Given the description of an element on the screen output the (x, y) to click on. 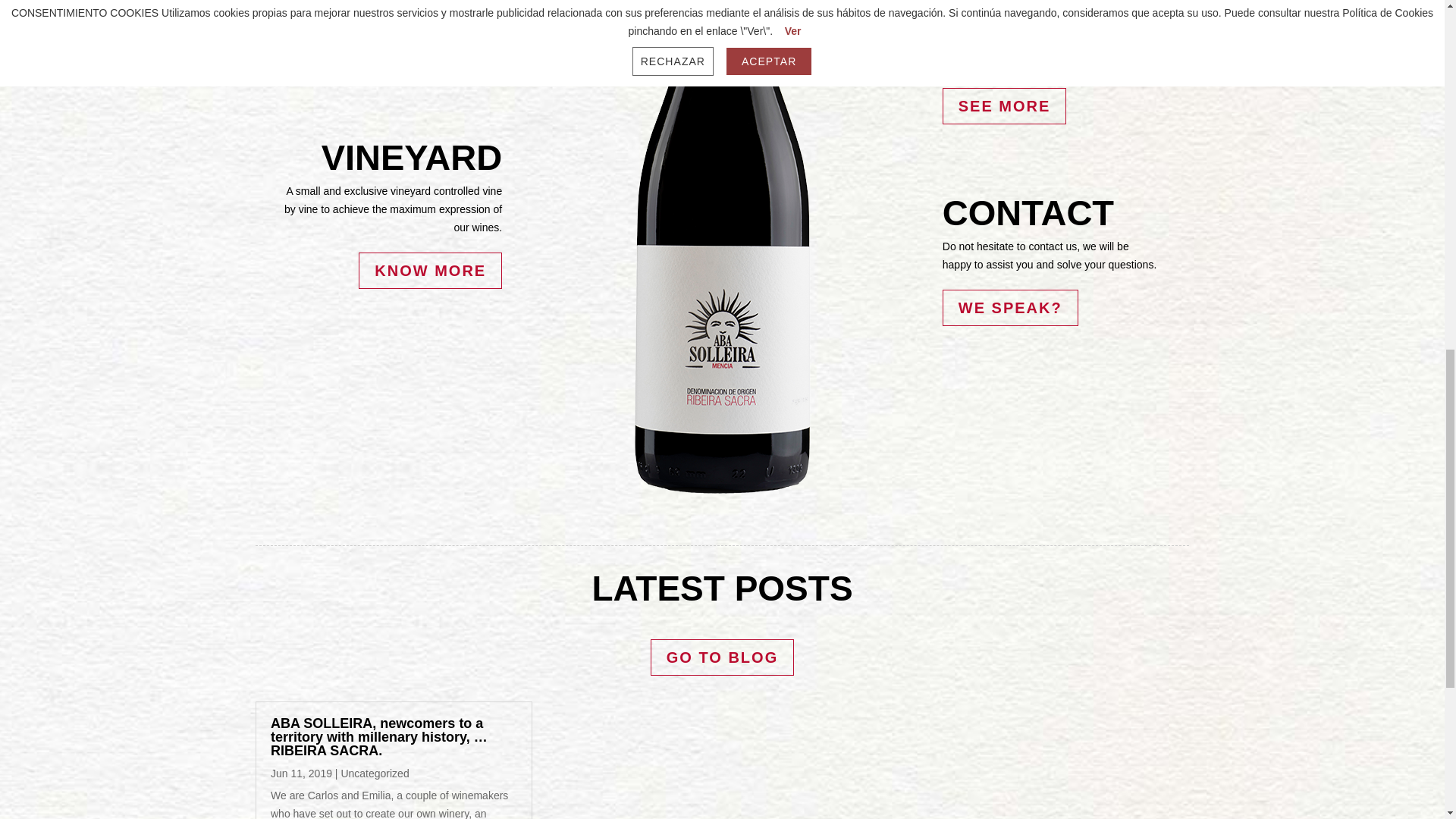
Uncategorized (374, 773)
GO TO BLOG (721, 657)
SEE MORE (1004, 105)
WE SPEAK? (1010, 307)
KNOW US (444, 34)
KNOW MORE (430, 270)
